Given the description of an element on the screen output the (x, y) to click on. 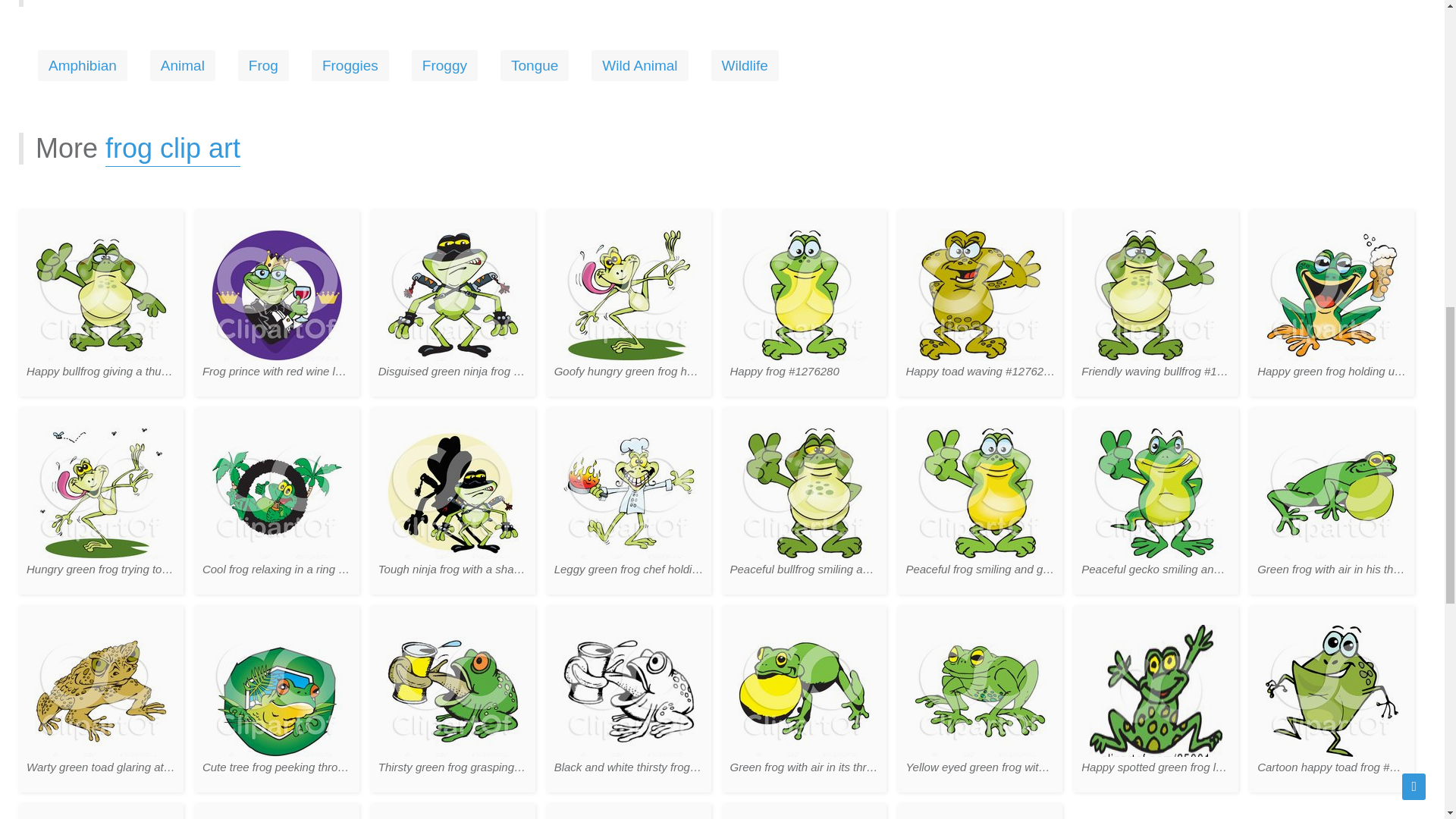
Animal (182, 65)
Wildlife (744, 65)
Froggies (349, 65)
Amphibian (82, 65)
frog clip art (172, 149)
Frog (263, 65)
Wild Animal (639, 65)
Froggy (444, 65)
Tongue (534, 65)
